Given the description of an element on the screen output the (x, y) to click on. 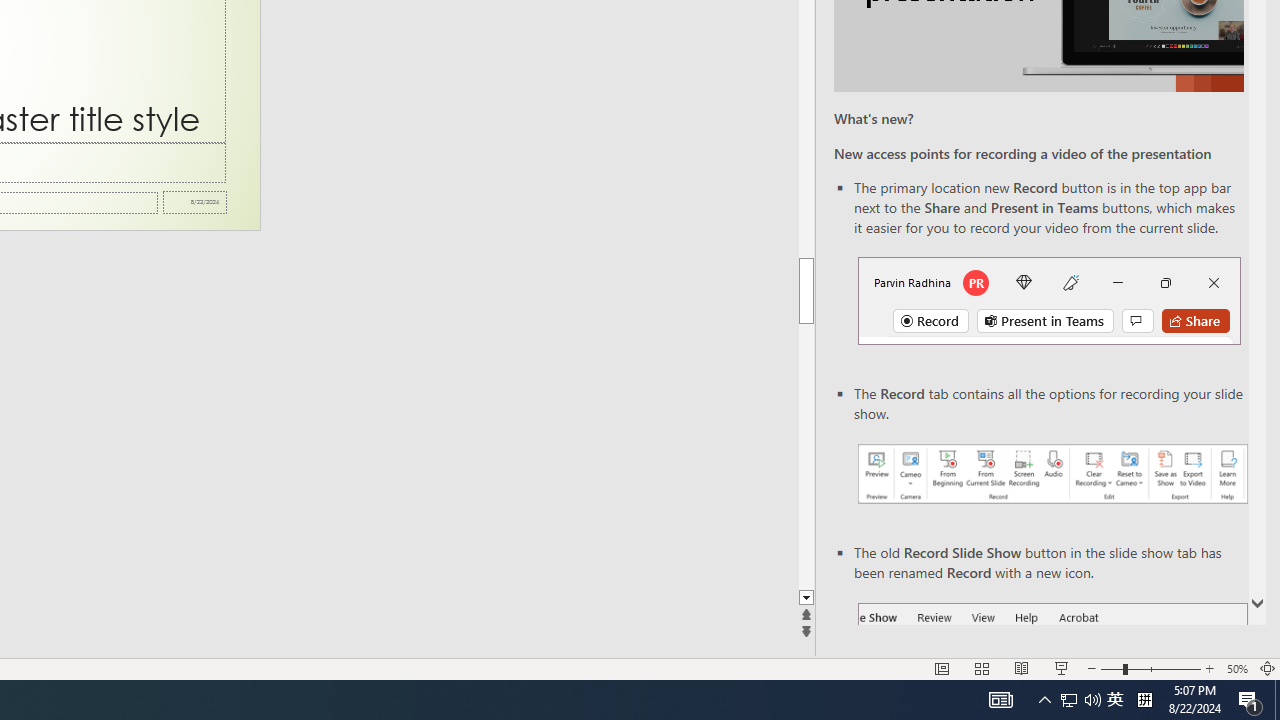
Page down (806, 456)
Record button in top bar (1049, 300)
Line down (806, 597)
Zoom 50% (1236, 668)
Date (194, 201)
